Given the description of an element on the screen output the (x, y) to click on. 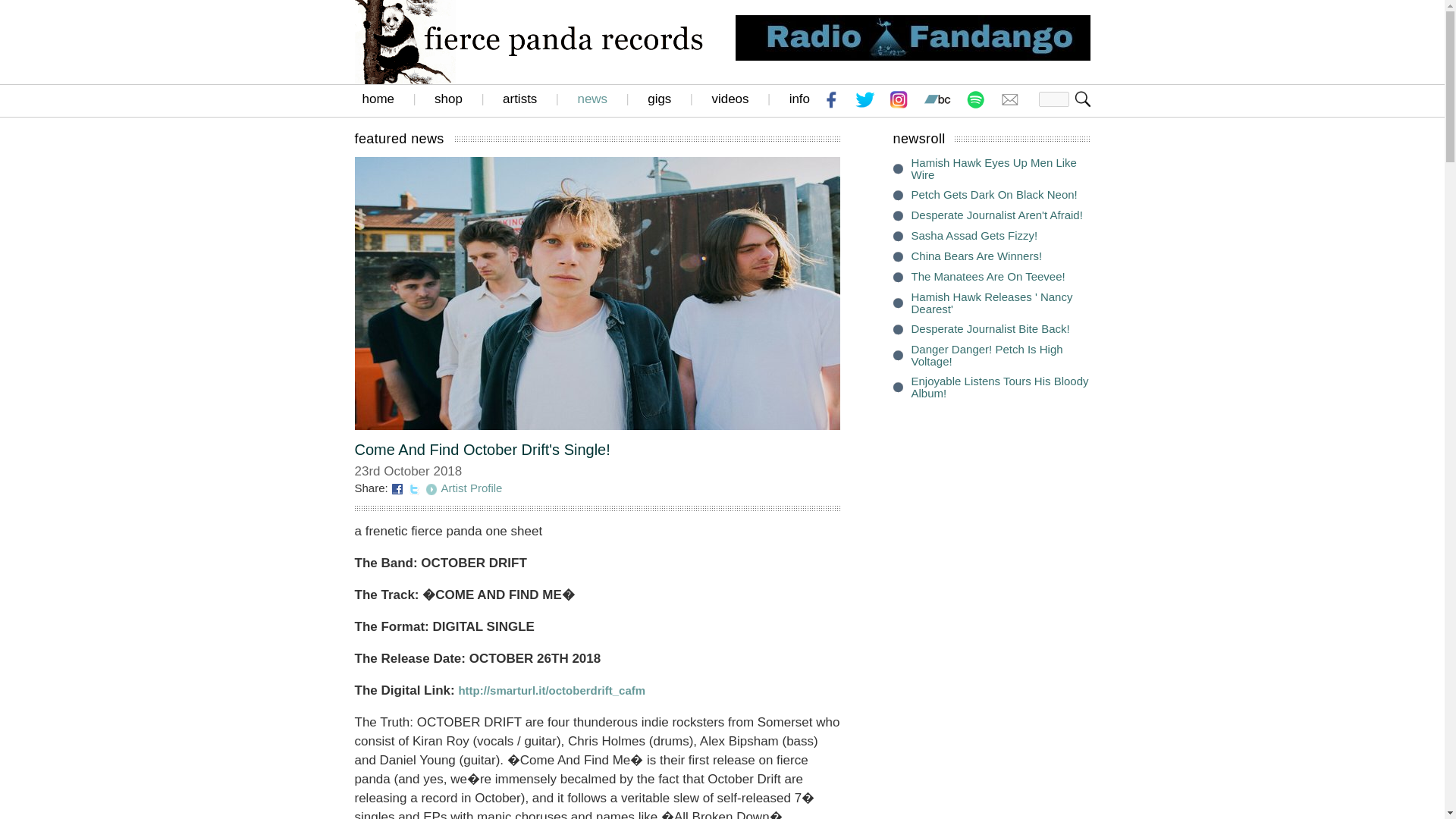
videos (729, 98)
artists (519, 98)
Artist Profile (471, 487)
Come And Find October Drift's Single! (482, 449)
shop (448, 98)
home (378, 98)
gigs (659, 98)
news (591, 98)
Join (1082, 98)
Join (1082, 98)
